Given the description of an element on the screen output the (x, y) to click on. 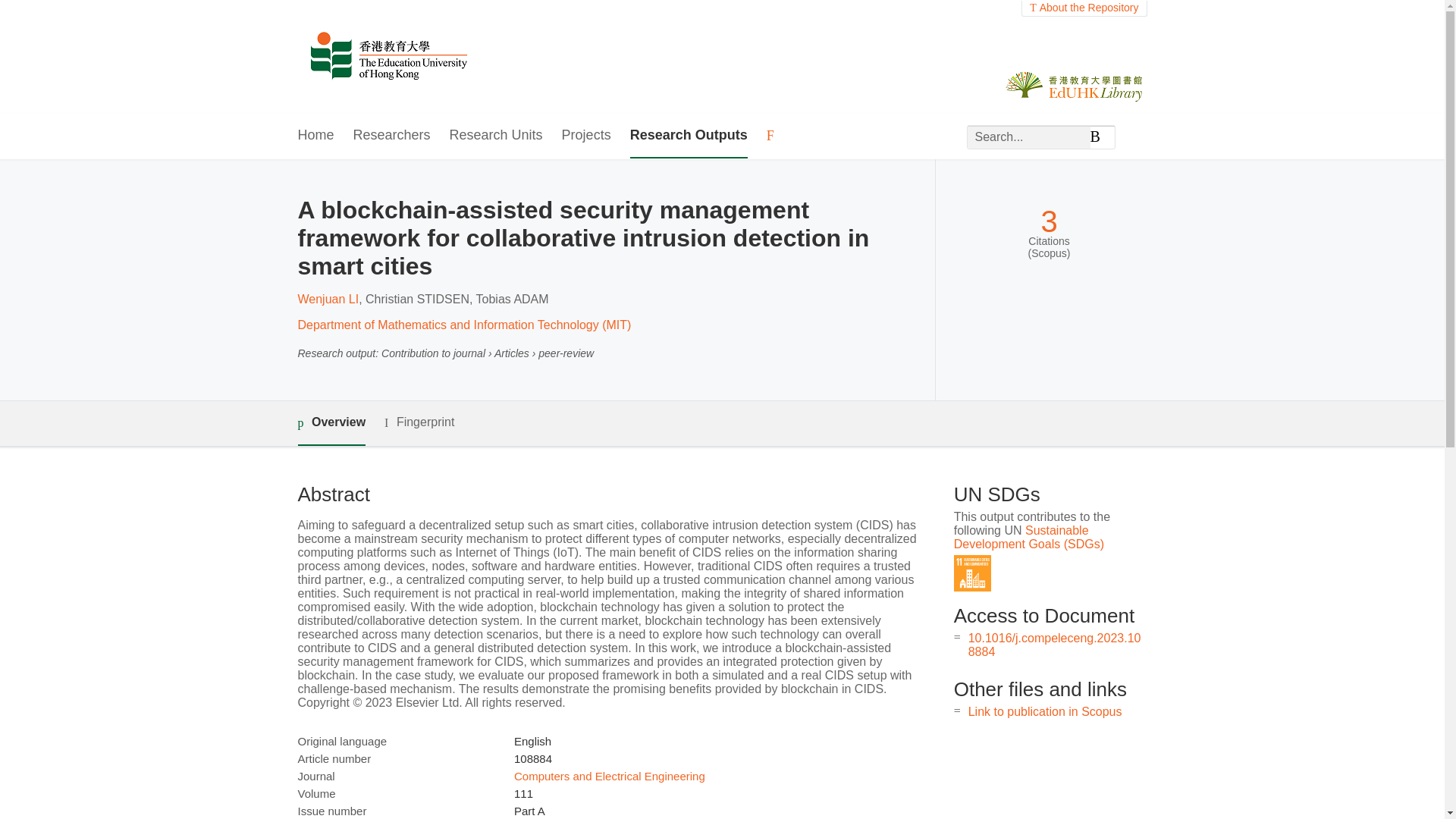
About the Repository (1083, 7)
SDG 11 - Sustainable Cities and Communities (972, 573)
Fingerprint (419, 422)
Research Outputs (689, 135)
EdUHK Research Repository Home (388, 56)
Link to publication in Scopus (1045, 711)
Overview (331, 423)
Researchers (391, 135)
Projects (586, 135)
Research Units (496, 135)
Wenjuan LI (327, 298)
Computers and Electrical Engineering (608, 775)
